Given the description of an element on the screen output the (x, y) to click on. 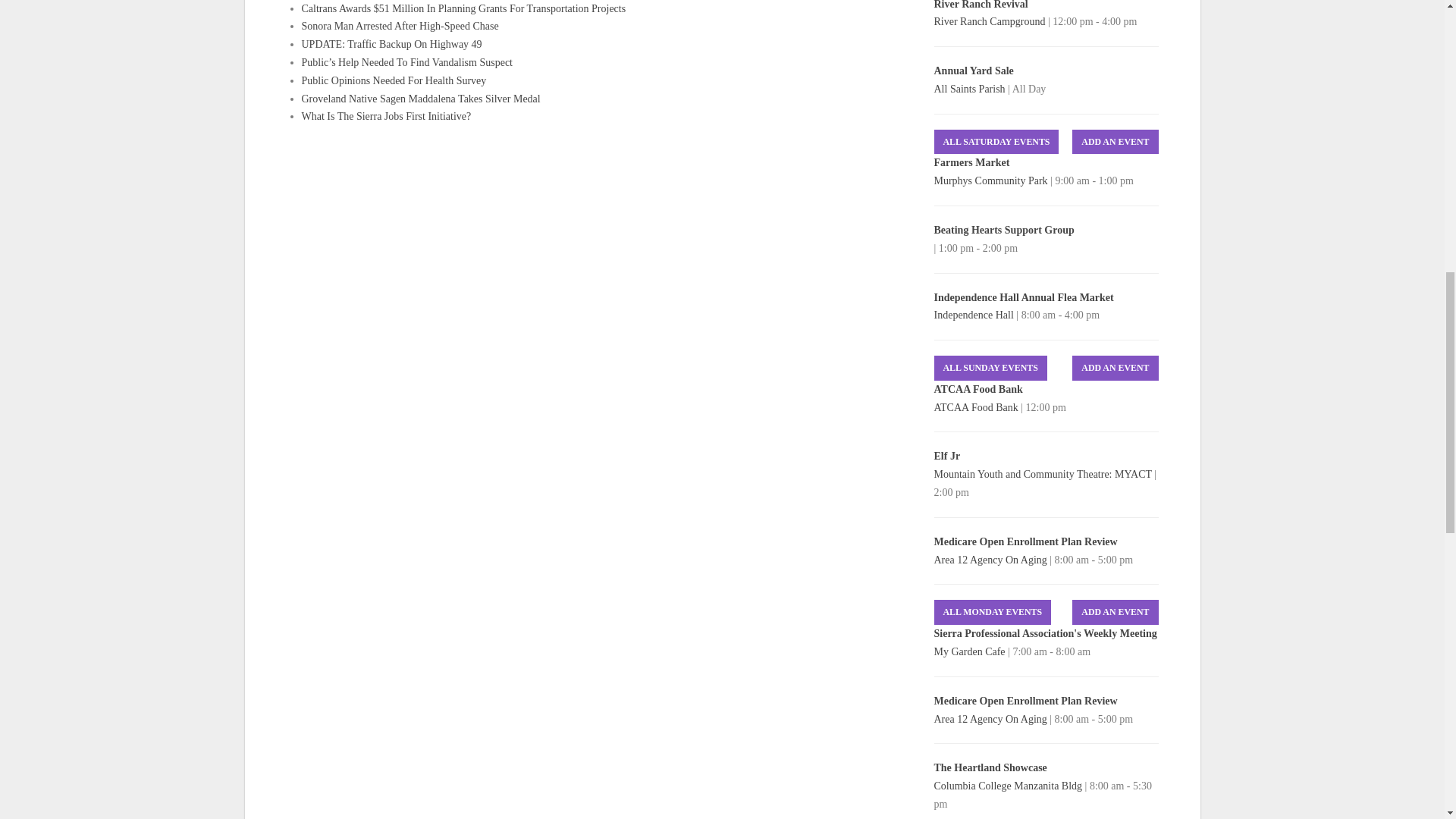
All Saturday Events (996, 141)
Add An Event (1114, 611)
All Monday Events (992, 611)
Add An Event (1114, 141)
Add An Event (1114, 367)
All Sunday Events (990, 367)
